Given the description of an element on the screen output the (x, y) to click on. 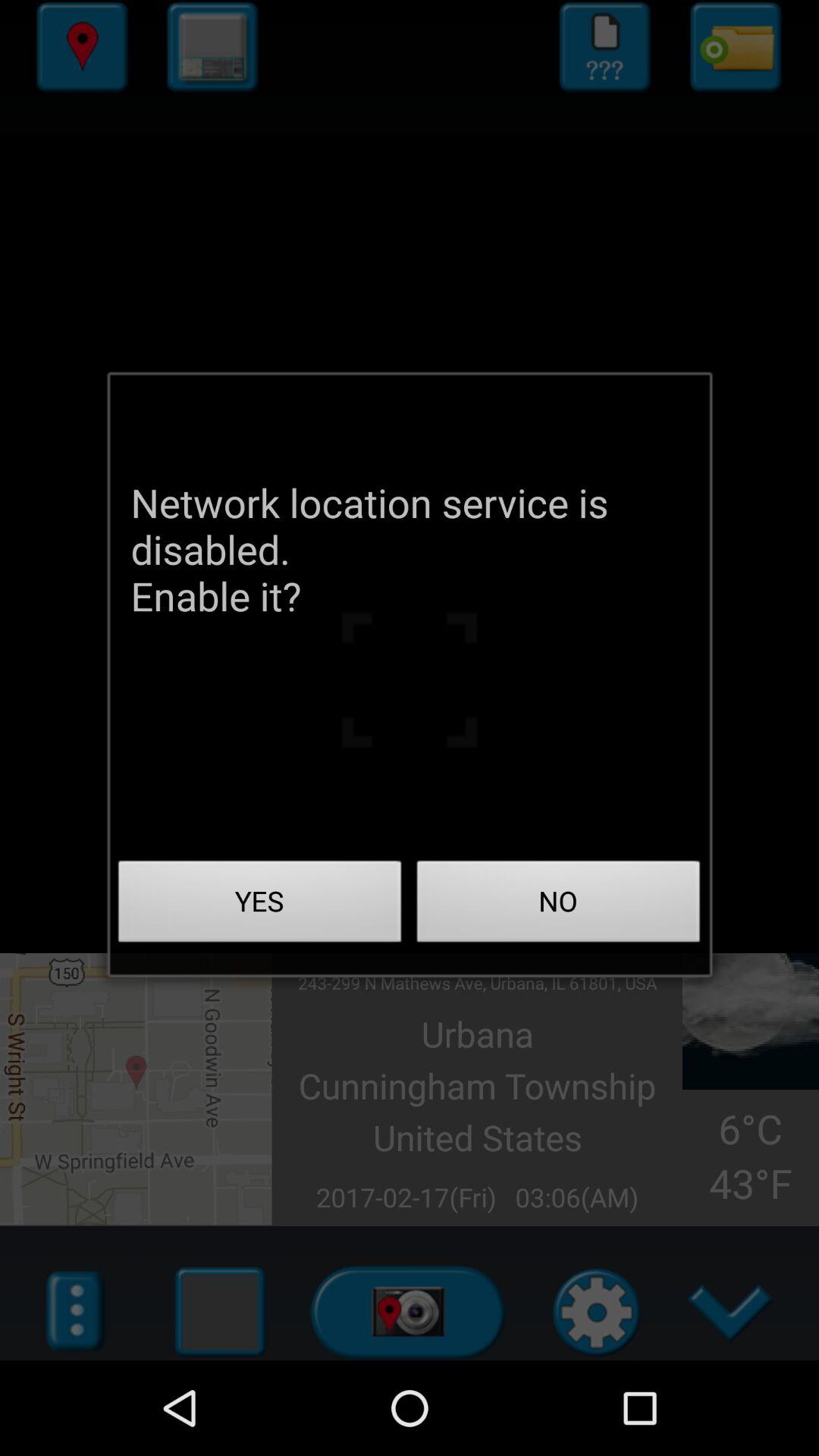
launch no button (558, 905)
